Given the description of an element on the screen output the (x, y) to click on. 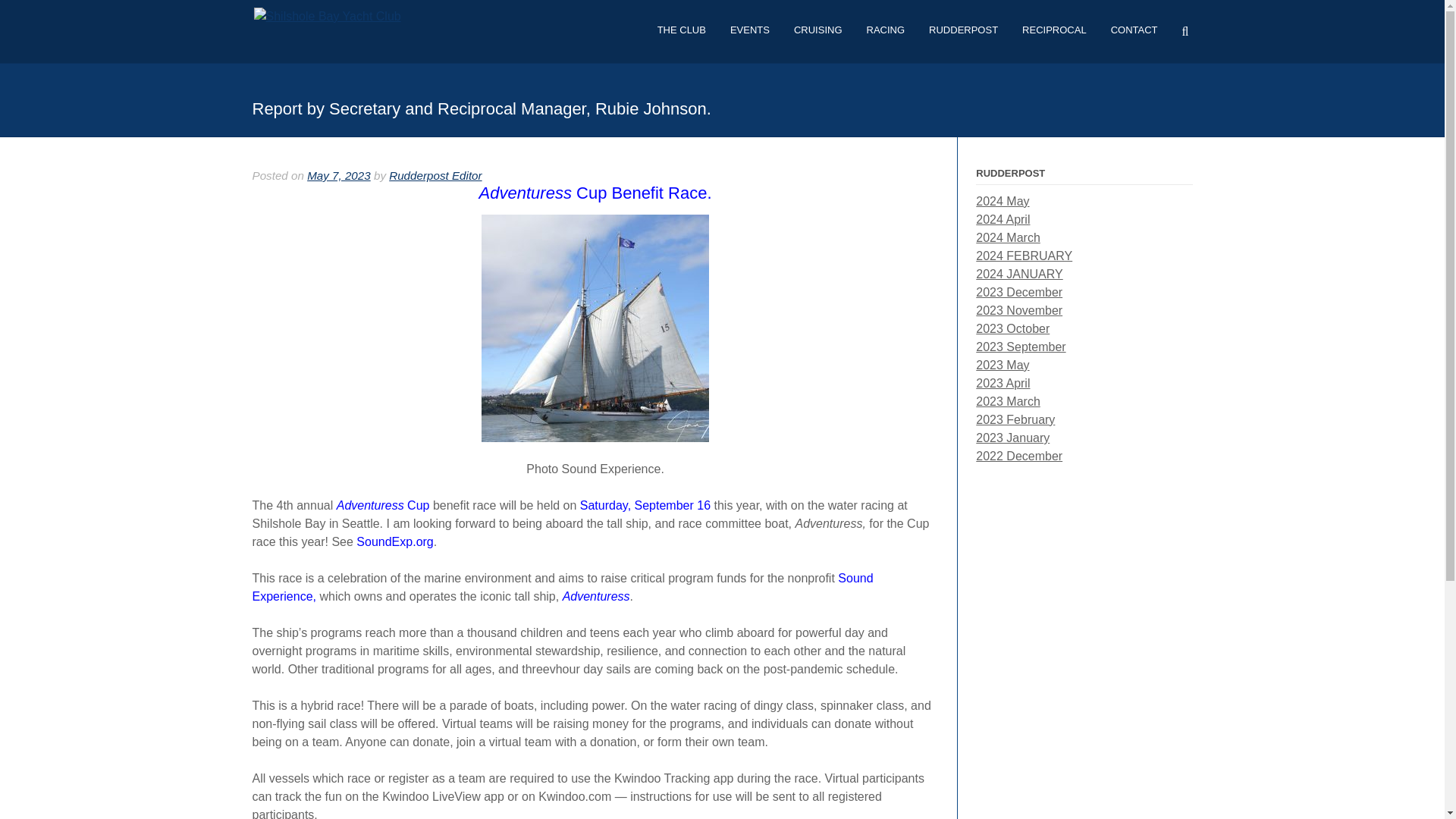
2024 FEBRUARY (1023, 255)
CONTACT (1134, 35)
Rudderpost Editor (434, 174)
2023 February (1014, 419)
2023 January (1012, 437)
2023 November (1018, 309)
2024 March (1008, 237)
2024 JANUARY (1018, 273)
May 7, 2023 (339, 174)
2023 December (1018, 291)
